Given the description of an element on the screen output the (x, y) to click on. 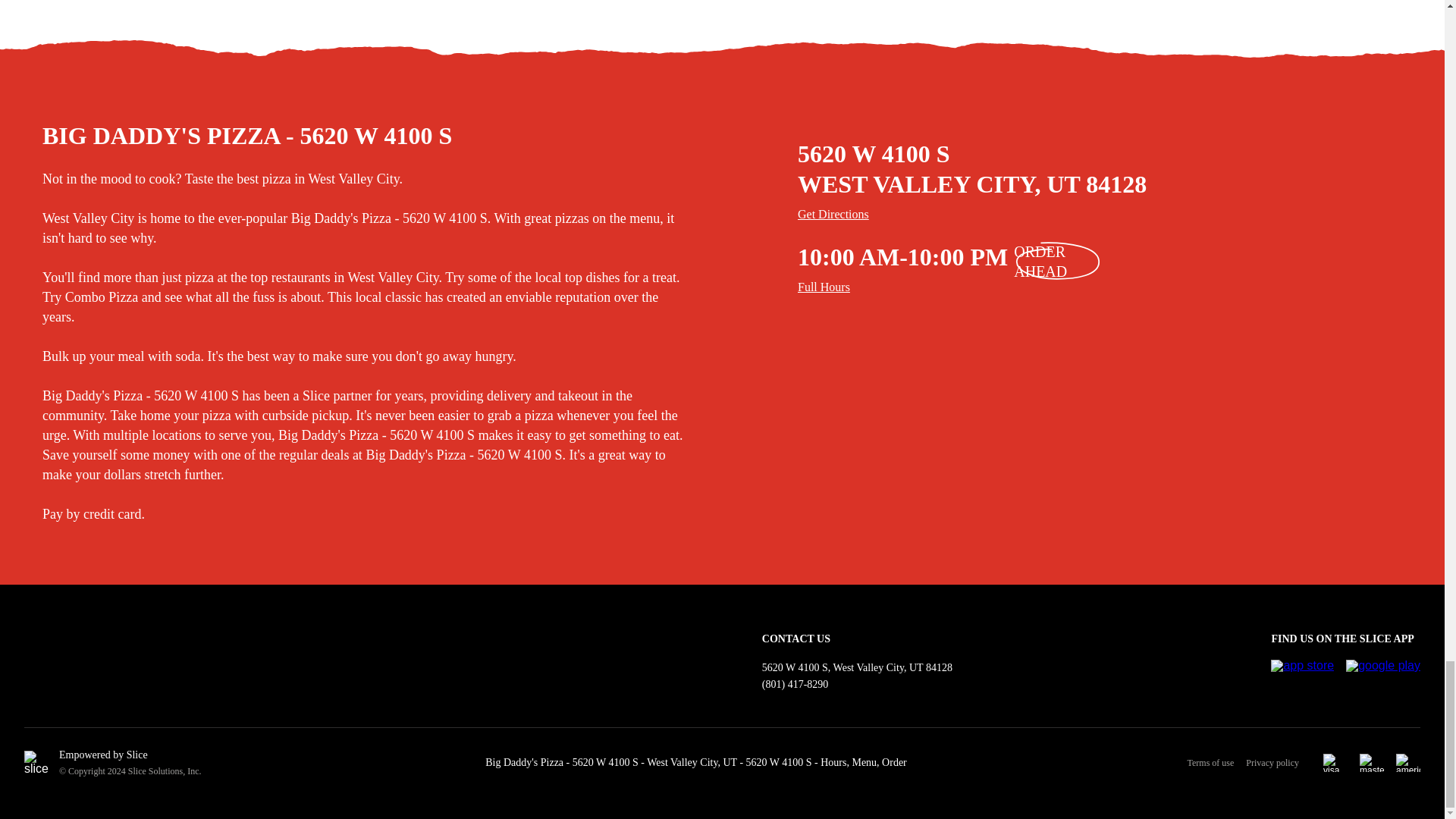
Terms of use (1217, 762)
Privacy policy (1272, 762)
Get Directions (1119, 214)
